Given the description of an element on the screen output the (x, y) to click on. 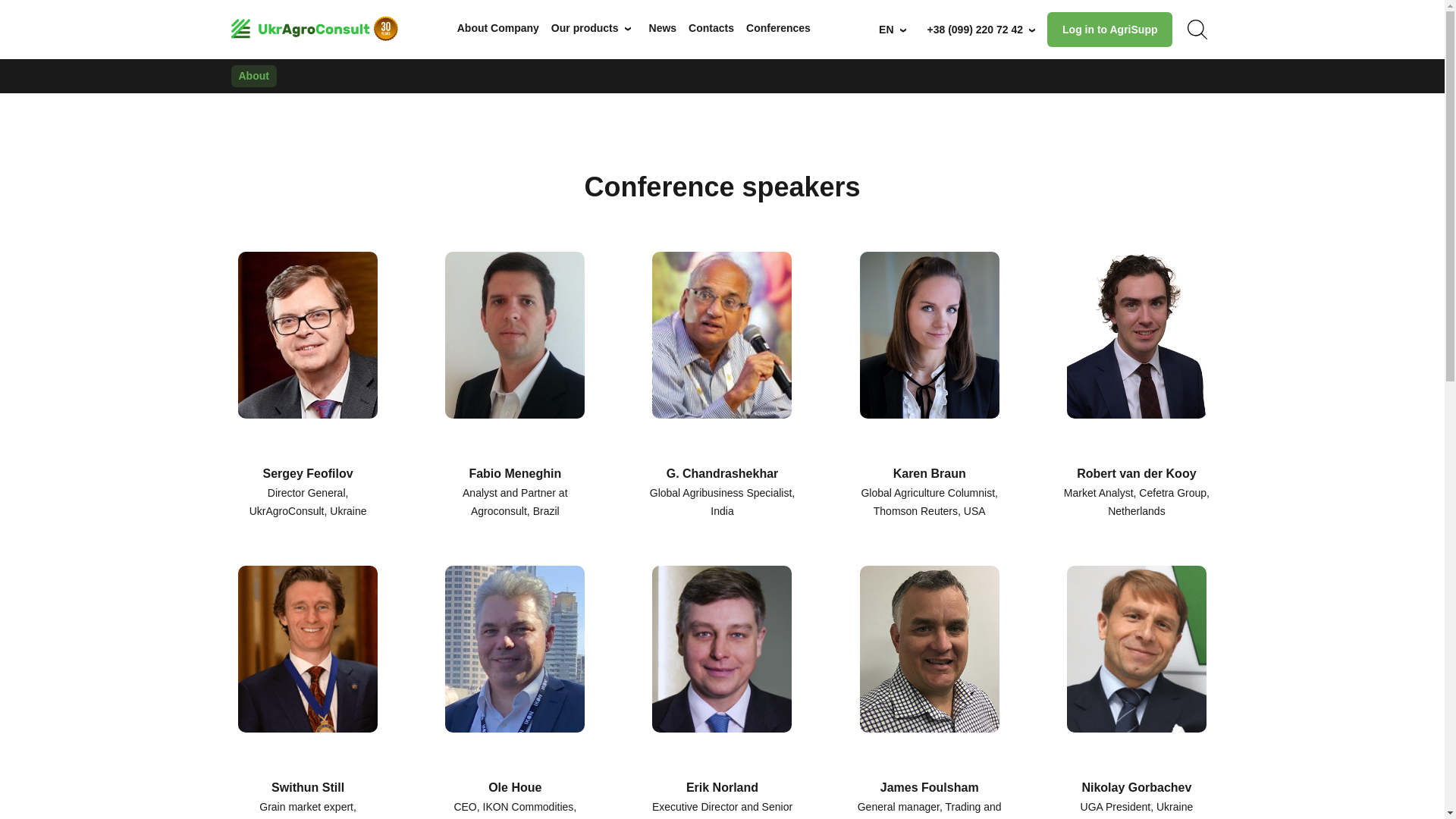
Conferences (777, 27)
Search (1196, 29)
About Company (497, 27)
Contacts (710, 27)
News (663, 27)
Log in to AgriSupp (1109, 29)
